Given the description of an element on the screen output the (x, y) to click on. 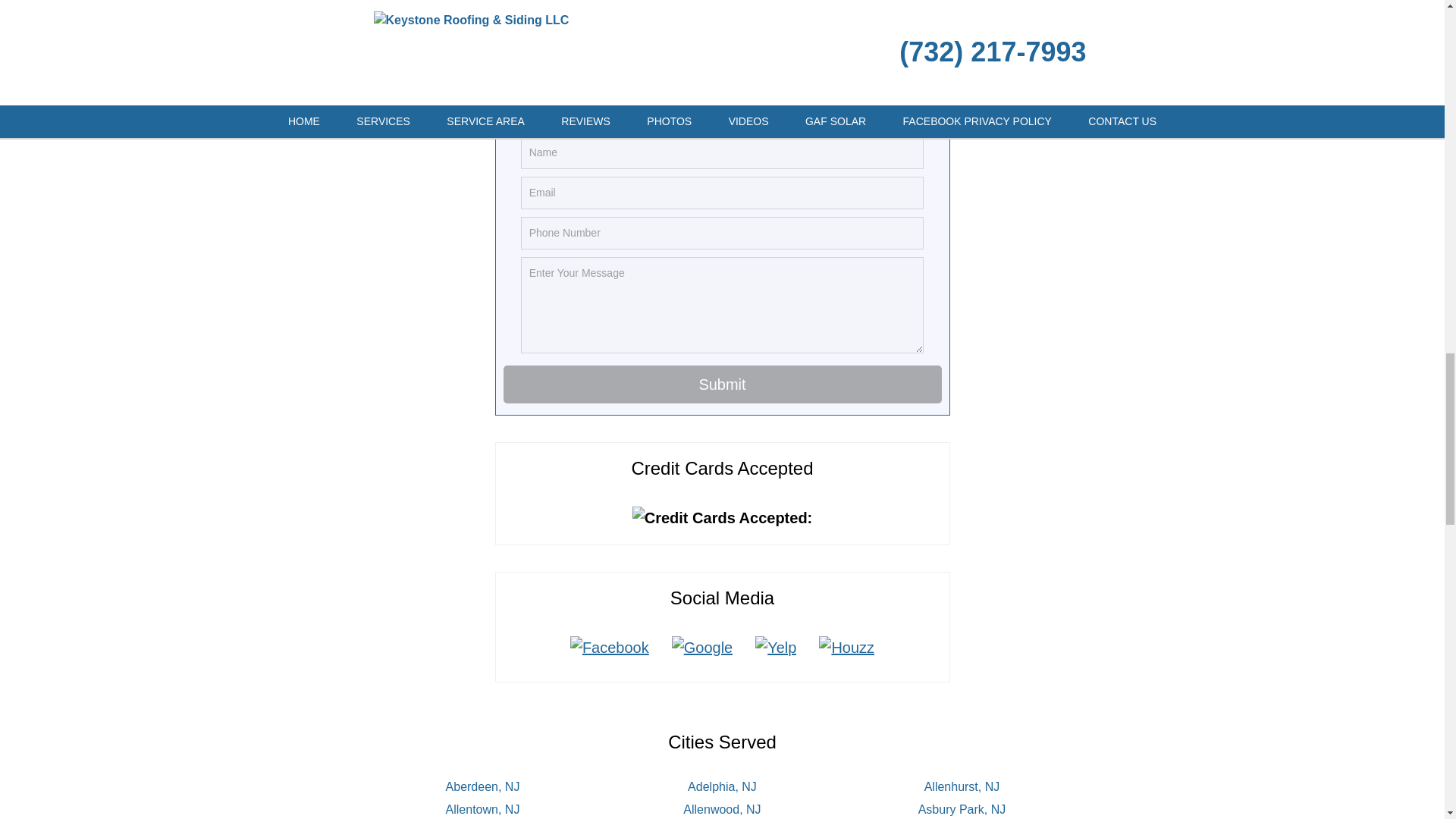
Allentown, NJ (482, 809)
Allenwood, NJ (721, 809)
Houzz (846, 647)
Allenhurst, NJ (962, 786)
Yelp (776, 647)
Submit (722, 384)
Aberdeen, NJ (482, 786)
Asbury Park, NJ (962, 809)
Facebook (610, 647)
Adelphia, NJ (722, 786)
Google (702, 647)
